Given the description of an element on the screen output the (x, y) to click on. 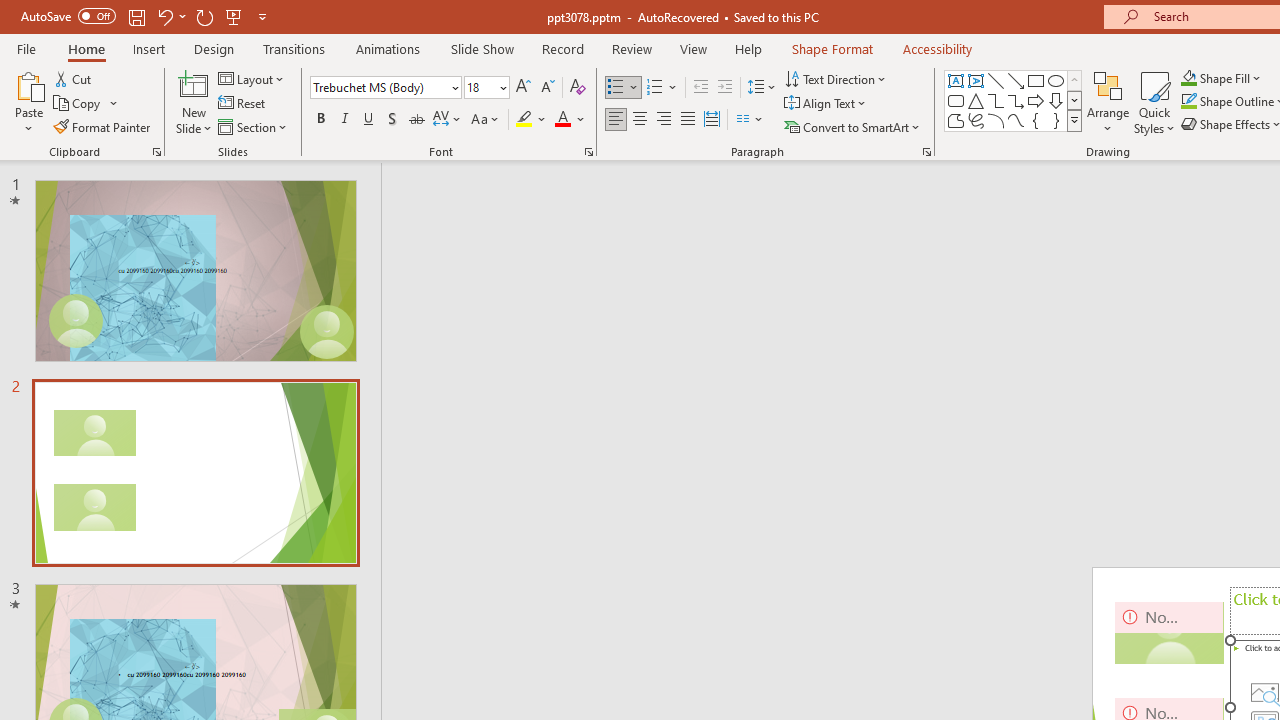
Shape Fill Dark Green, Accent 2 (1188, 78)
